Given the description of an element on the screen output the (x, y) to click on. 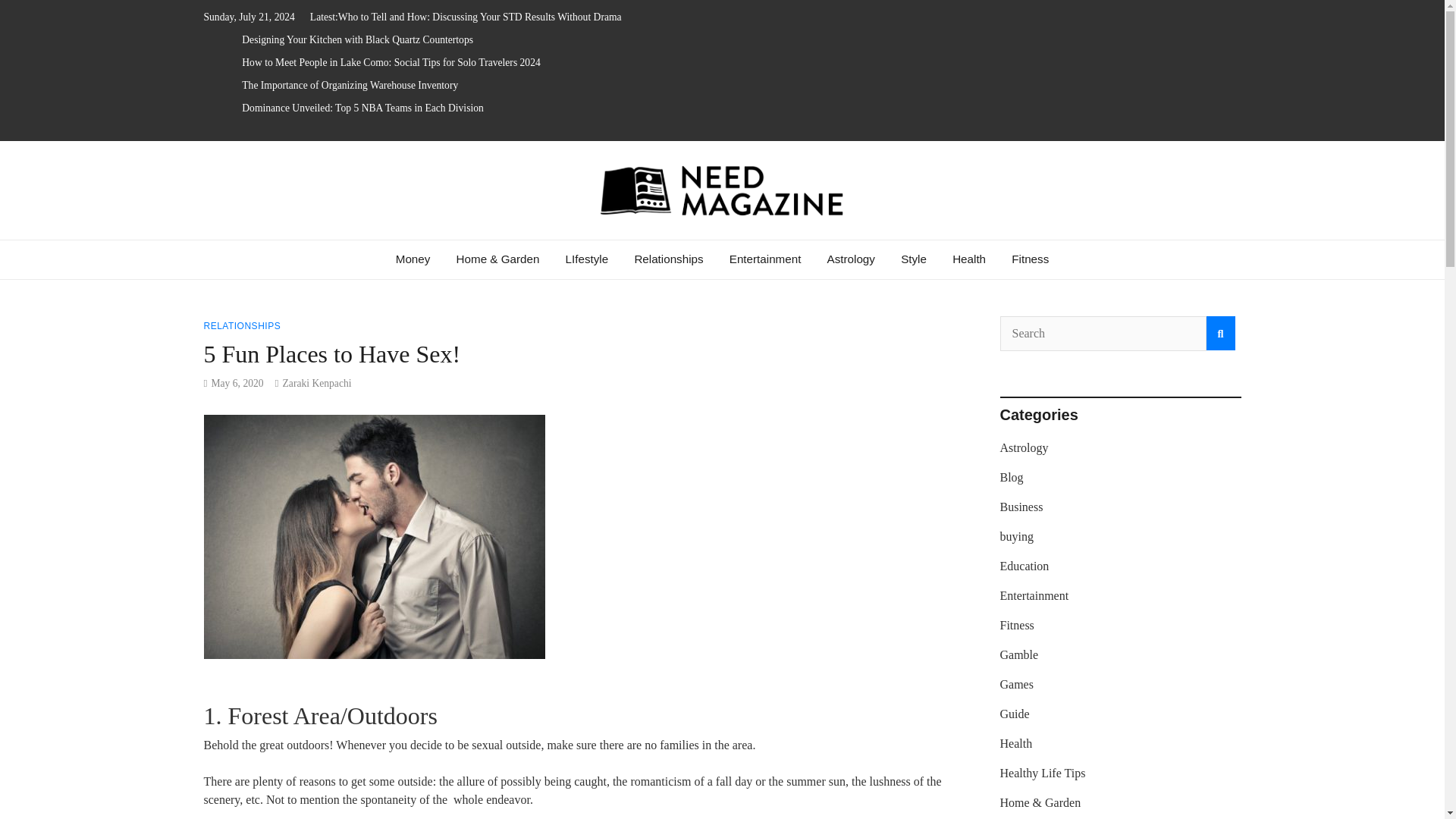
Health (968, 259)
The Importance of Organizing Warehouse Inventory (349, 84)
The Importance of Organizing Warehouse Inventory (349, 84)
Designing Your Kitchen with Black Quartz Countertops (357, 39)
Relationships (668, 259)
Astrology (850, 259)
Entertainment (764, 259)
Dominance Unveiled: Top 5 NBA Teams in Each Division (362, 107)
May 6, 2020 (237, 383)
Dominance Unveiled: Top 5 NBA Teams in Each Division (362, 107)
Style (913, 259)
Fitness (1029, 259)
